Given the description of an element on the screen output the (x, y) to click on. 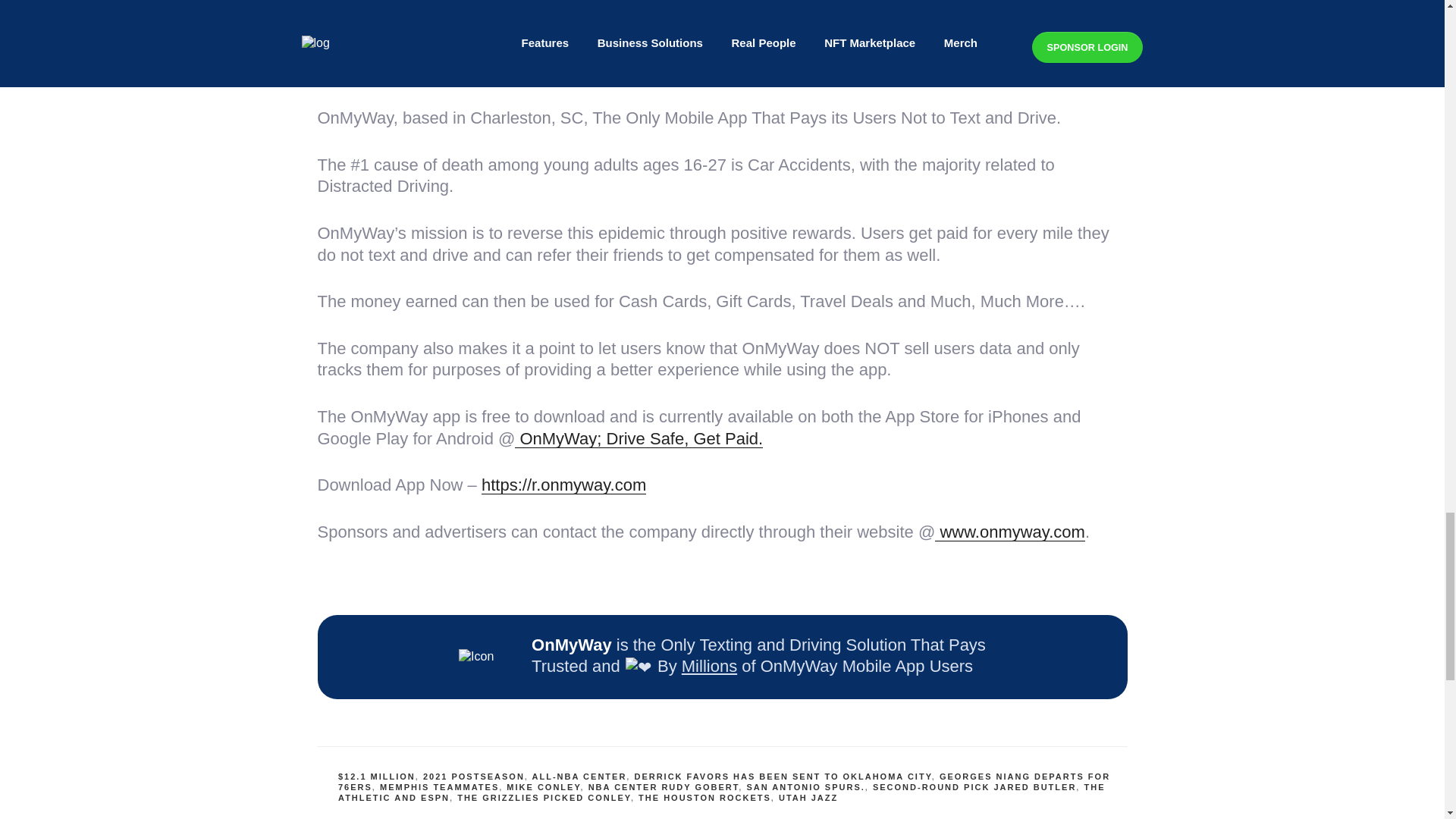
THE HOUSTON ROCKETS (705, 797)
www.onmyway.com (1009, 531)
2021 POSTSEASON (473, 776)
DERRICK FAVORS HAS BEEN SENT TO OKLAHOMA CITY (782, 776)
NBA CENTER RUDY GOBERT (663, 786)
THE ATHLETIC AND ESPN (721, 792)
MIKE CONLEY (542, 786)
OnMyWay; Drive Safe, Get Paid. (638, 438)
SAN ANTONIO SPURS. (804, 786)
GEORGES NIANG DEPARTS FOR 76ERS (723, 781)
